Given the description of an element on the screen output the (x, y) to click on. 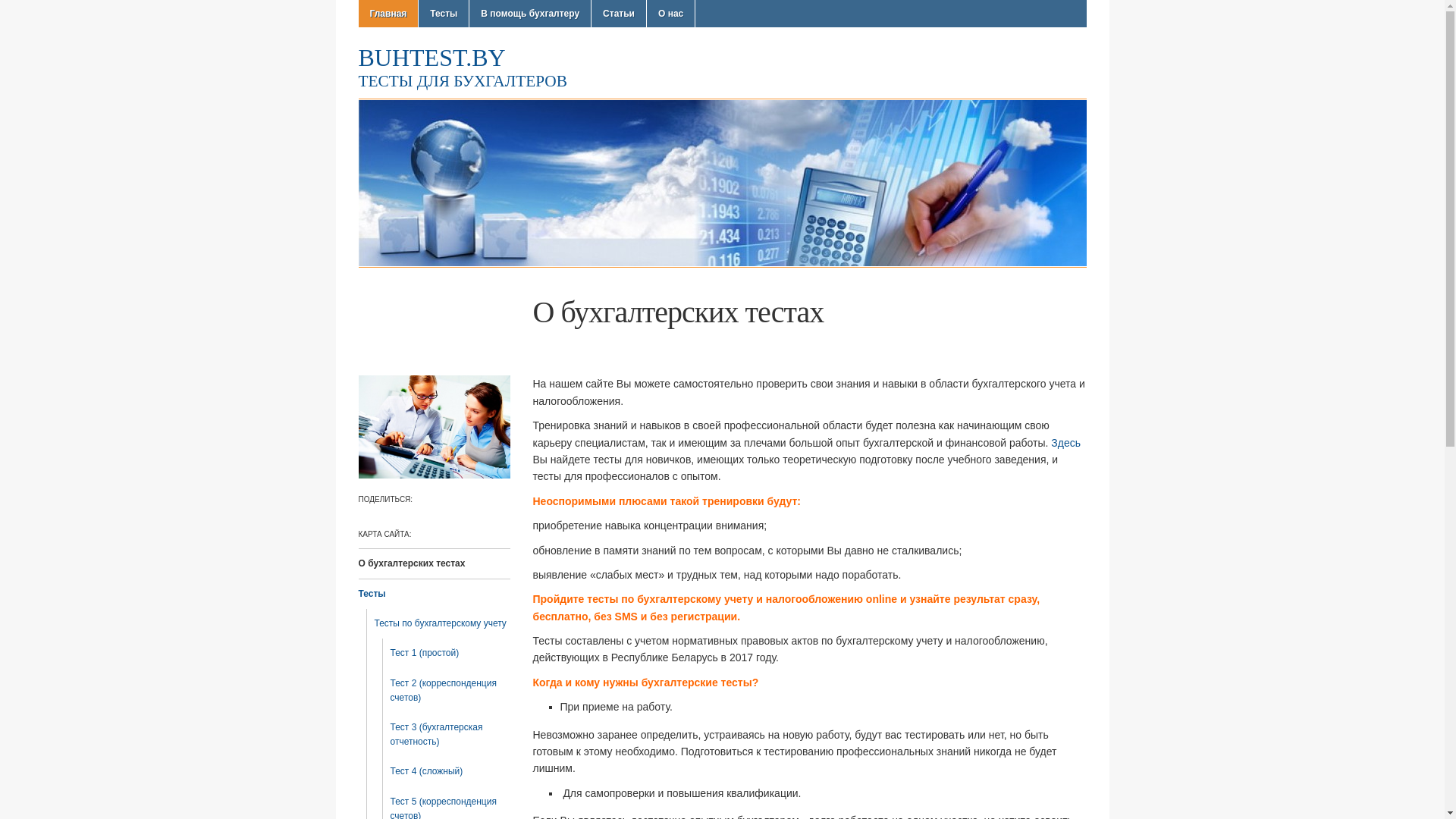
Buhtest.by Element type: hover (721, 182)
BUHTEST.BY Element type: text (431, 57)
